Given the description of an element on the screen output the (x, y) to click on. 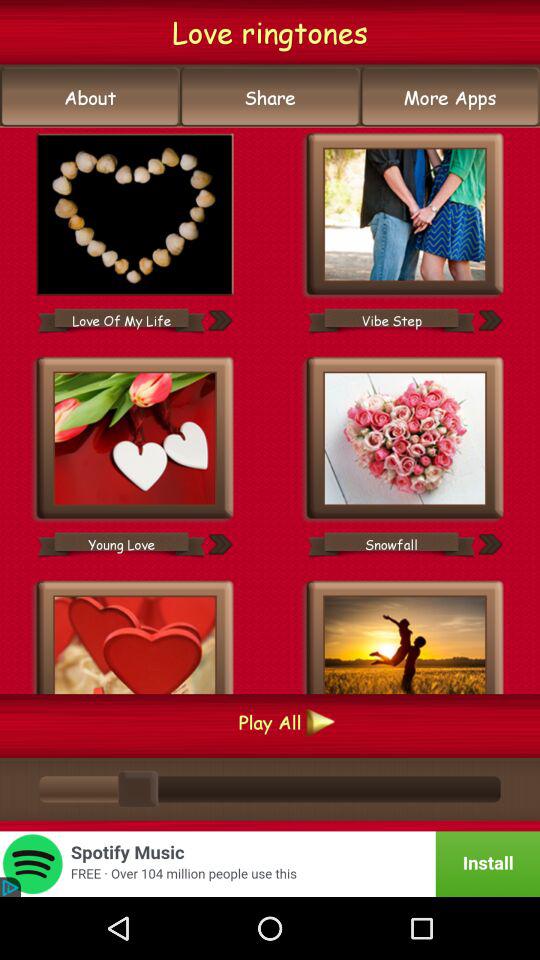
swipe to young love button (121, 544)
